Given the description of an element on the screen output the (x, y) to click on. 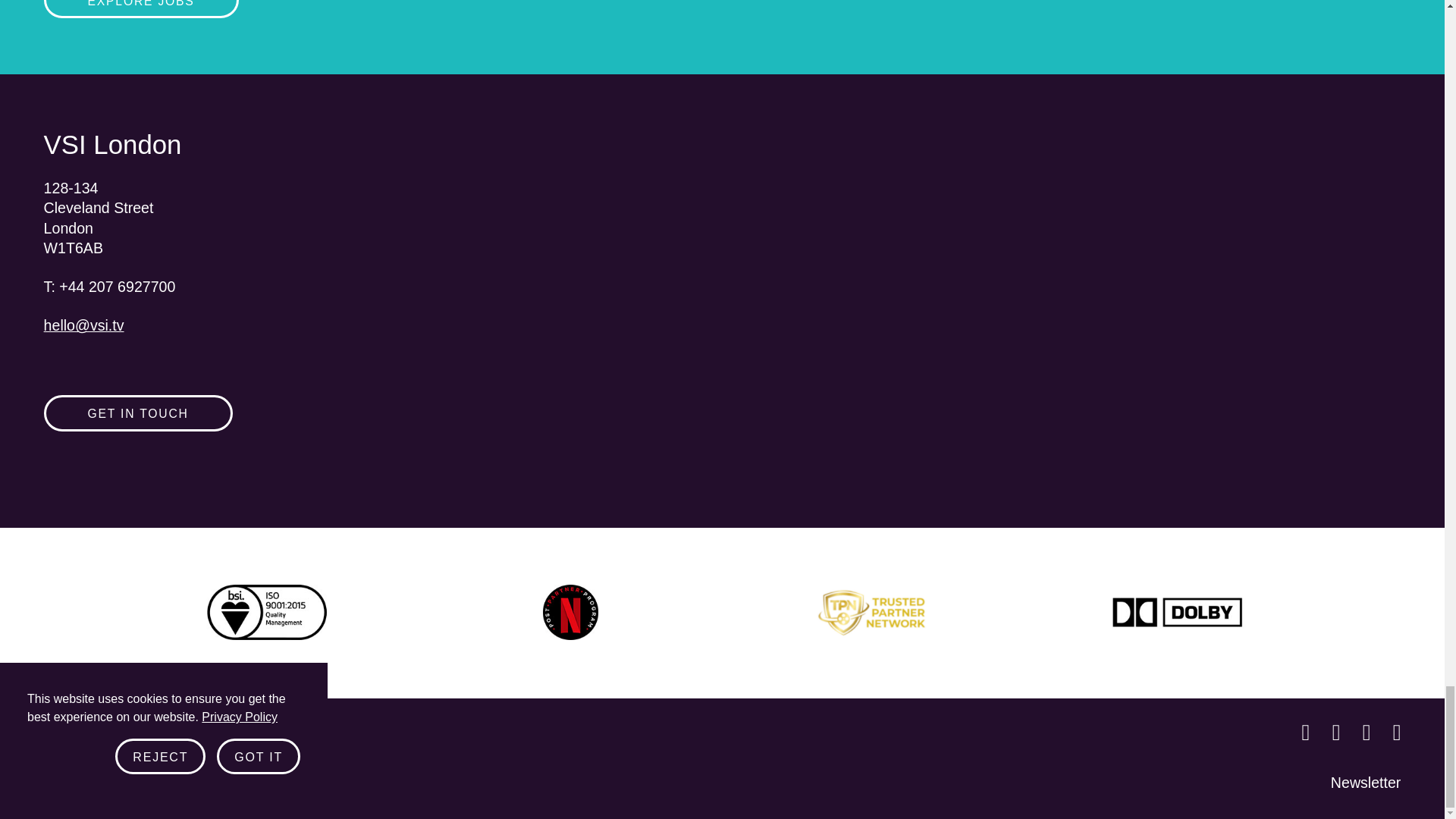
Newsletter (1365, 782)
Company Information (228, 782)
Privacy Policy (89, 782)
EXPLORE JOBS (140, 9)
